Given the description of an element on the screen output the (x, y) to click on. 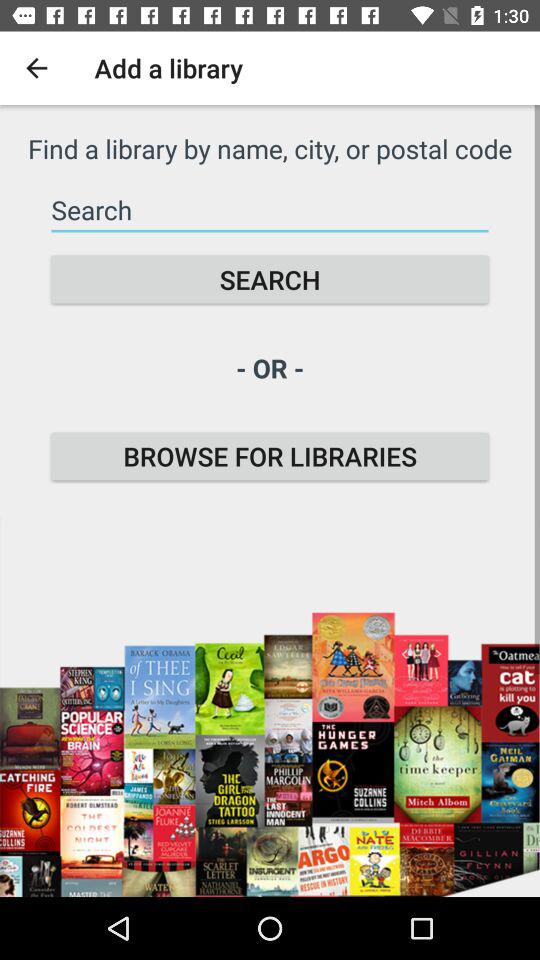
turn off the icon next to the add a library icon (36, 68)
